Given the description of an element on the screen output the (x, y) to click on. 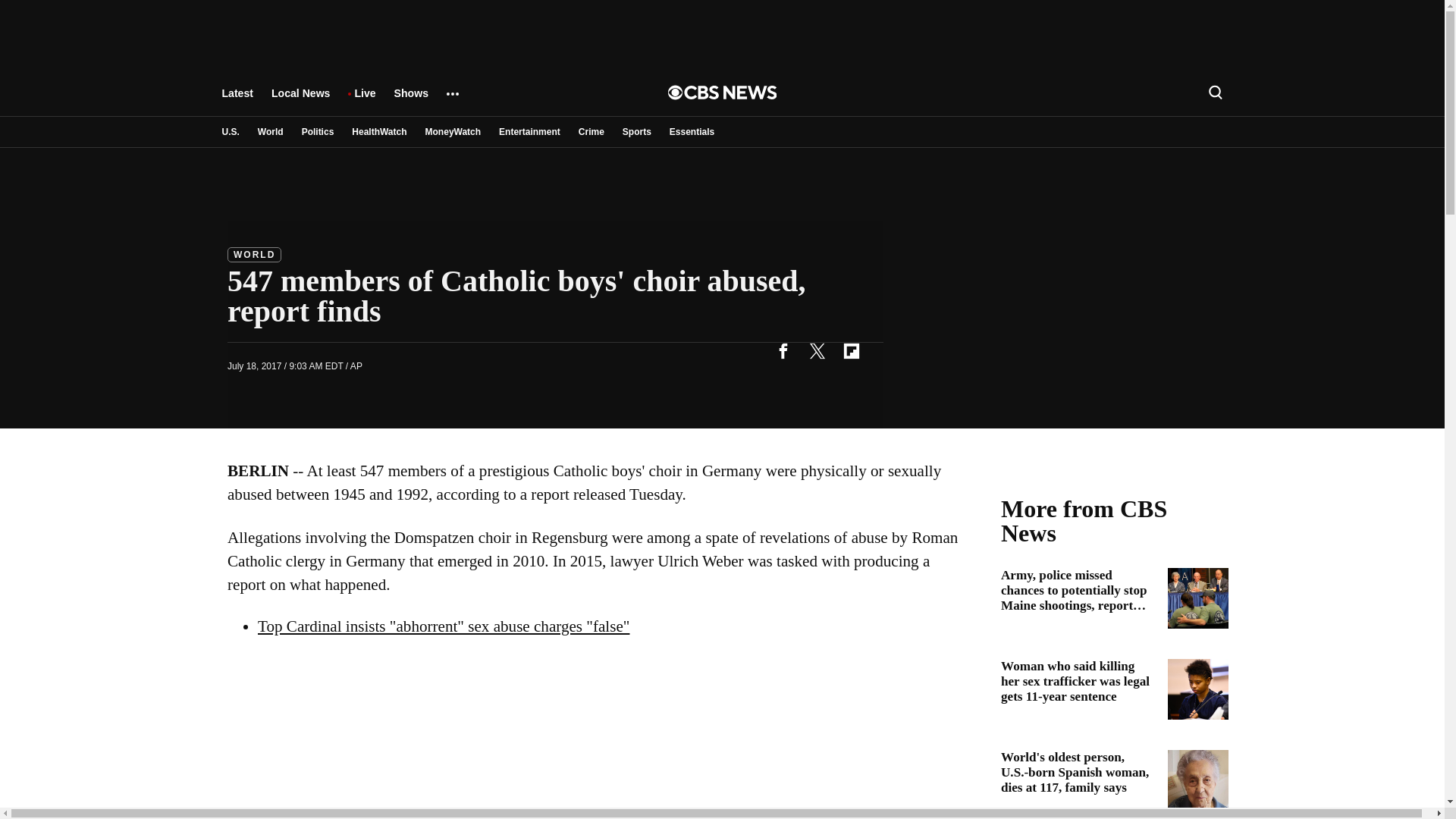
twitter (816, 350)
Local News (300, 100)
flipboard (850, 350)
facebook (782, 350)
Latest (236, 100)
